Given the description of an element on the screen output the (x, y) to click on. 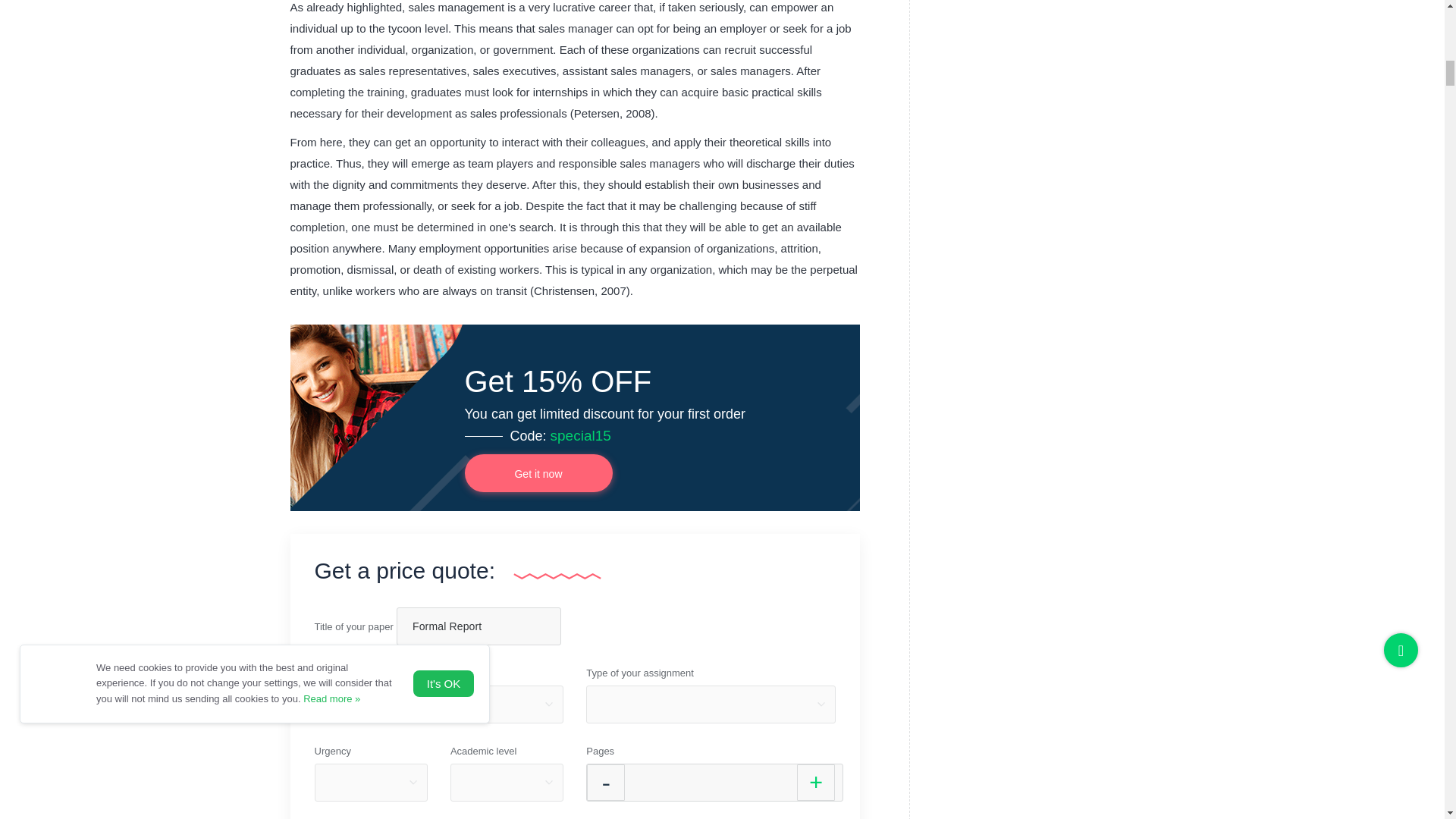
Get it now (537, 473)
Formal Report (478, 626)
Plus (815, 782)
Minus (605, 782)
